Given the description of an element on the screen output the (x, y) to click on. 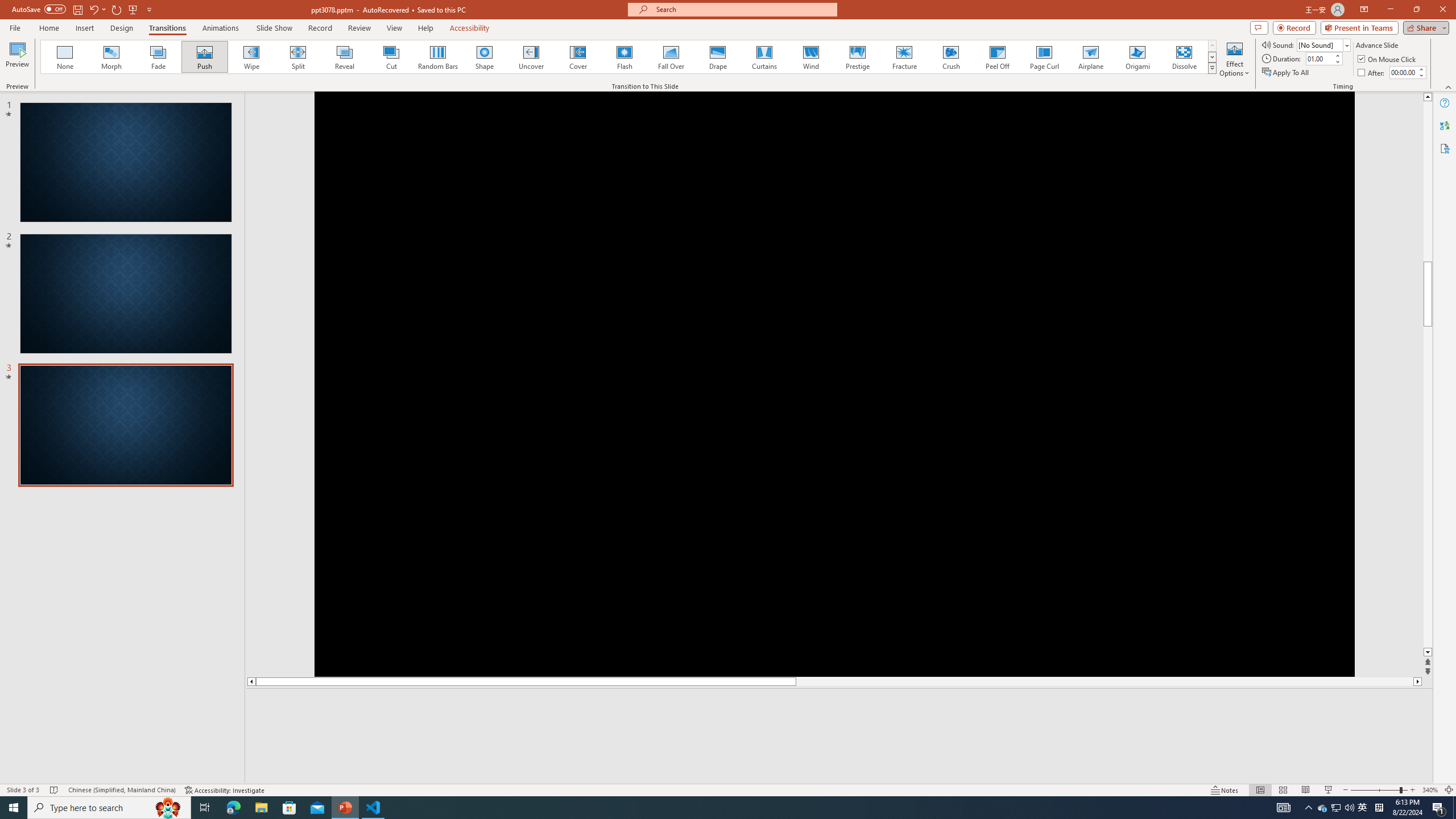
Reveal (344, 56)
Page up (1427, 261)
Page down (1427, 567)
Airplane (1090, 56)
More (1420, 69)
Crush (950, 56)
Wipe (251, 56)
